Given the description of an element on the screen output the (x, y) to click on. 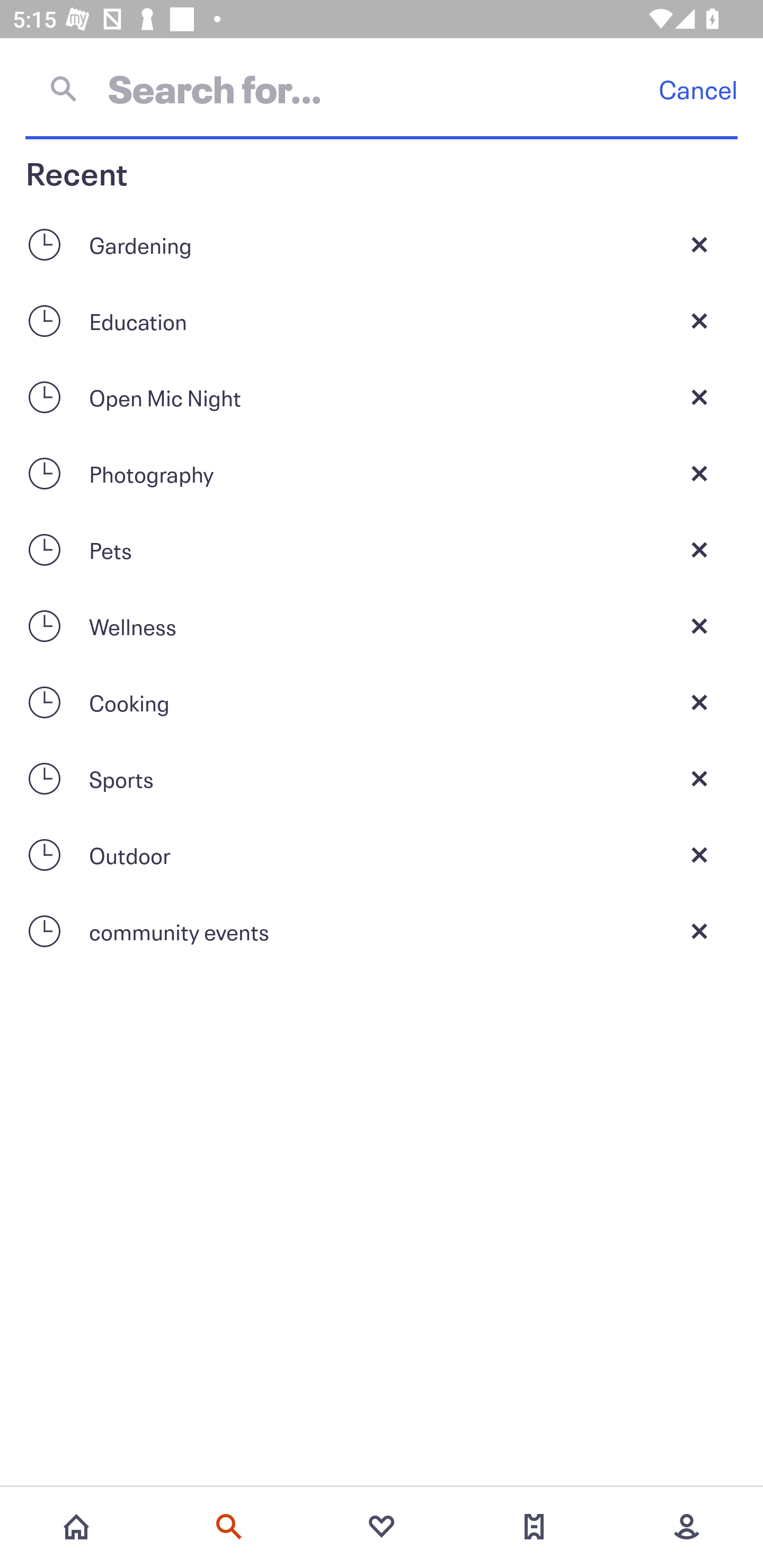
Cancel Search for… (381, 88)
Cancel (697, 89)
Gardening Close current screen (381, 244)
Close current screen (699, 244)
Education Close current screen (381, 320)
Close current screen (699, 320)
Open Mic Night Close current screen (381, 397)
Close current screen (699, 397)
Photography Close current screen (381, 473)
Close current screen (699, 473)
Pets Close current screen (381, 549)
Close current screen (699, 549)
Wellness Close current screen (381, 626)
Close current screen (699, 626)
Cooking Close current screen (381, 702)
Close current screen (699, 702)
Sports Close current screen (381, 778)
Close current screen (699, 778)
Outdoor Close current screen (381, 854)
Close current screen (699, 854)
community events Close current screen (381, 931)
Close current screen (699, 931)
Home (76, 1526)
Search events (228, 1526)
Favorites (381, 1526)
Tickets (533, 1526)
More (686, 1526)
